Given the description of an element on the screen output the (x, y) to click on. 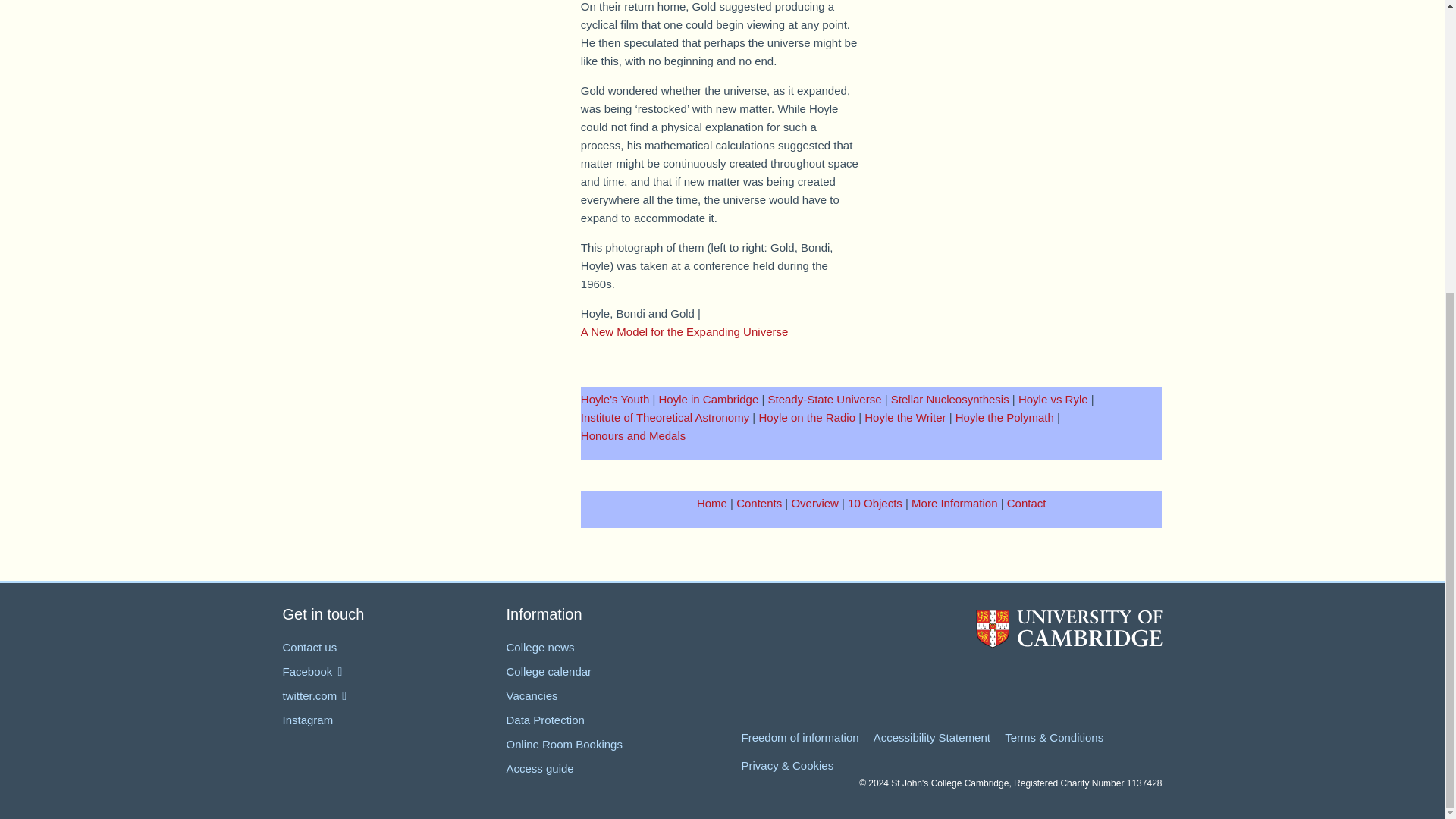
How to find out more about Hoyle's life and work (954, 502)
Full exhibition contents list (758, 502)
Contact details for the exhibition curator (1026, 502)
College calendar (549, 671)
An overview of the exhibition in pictures (814, 502)
A history of Fred Hoyle in 10 objects (874, 502)
